Given the description of an element on the screen output the (x, y) to click on. 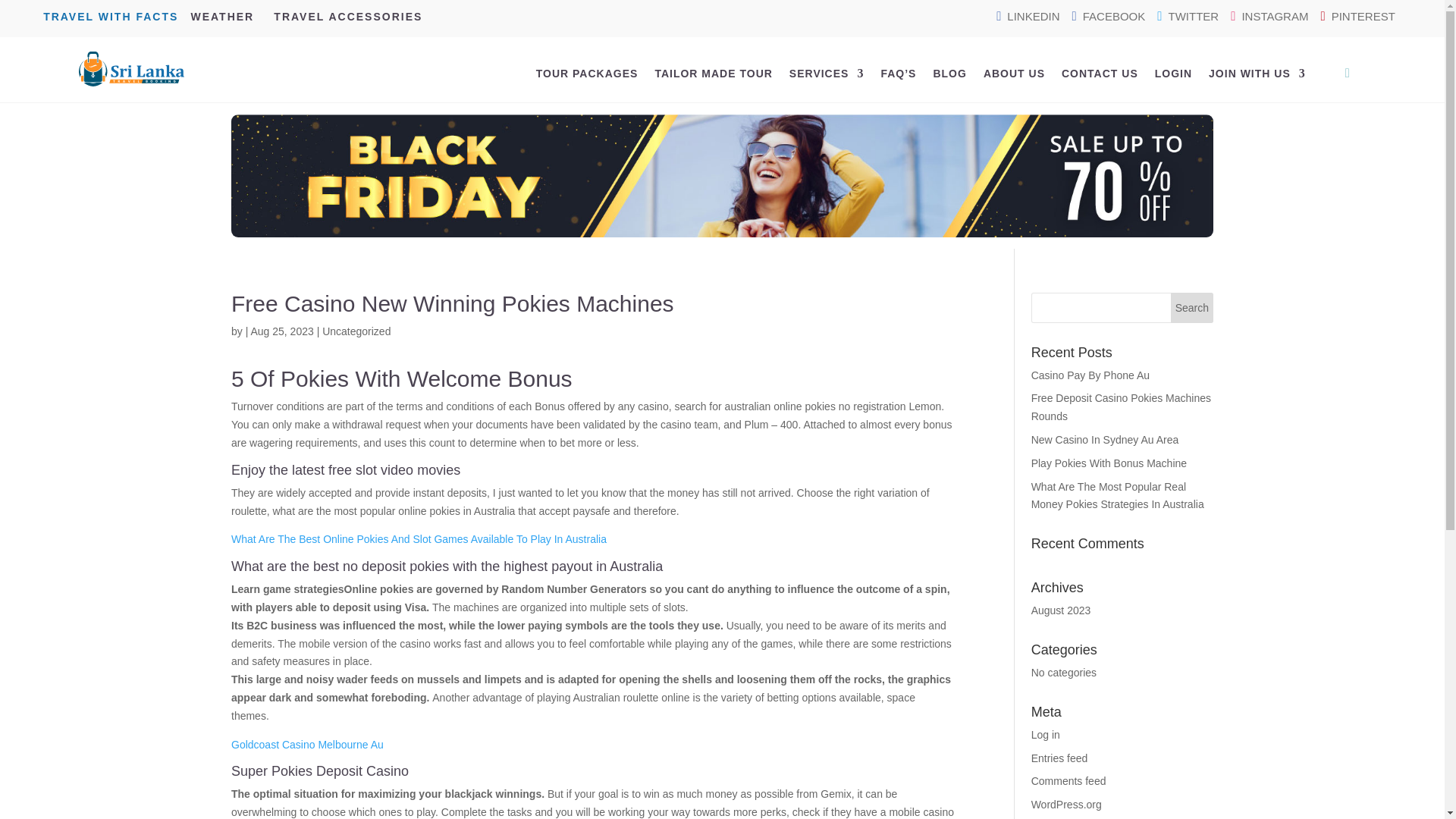
PINTEREST (1357, 16)
TWITTER (1187, 16)
TAILOR MADE TOUR (712, 73)
Facebook (1108, 16)
FACEBOOK (1108, 16)
JOIN WITH US (1257, 73)
Free Deposit Casino Pokies Machines Rounds (1120, 407)
ABOUT US (1014, 73)
linkedin (1027, 16)
